Given the description of an element on the screen output the (x, y) to click on. 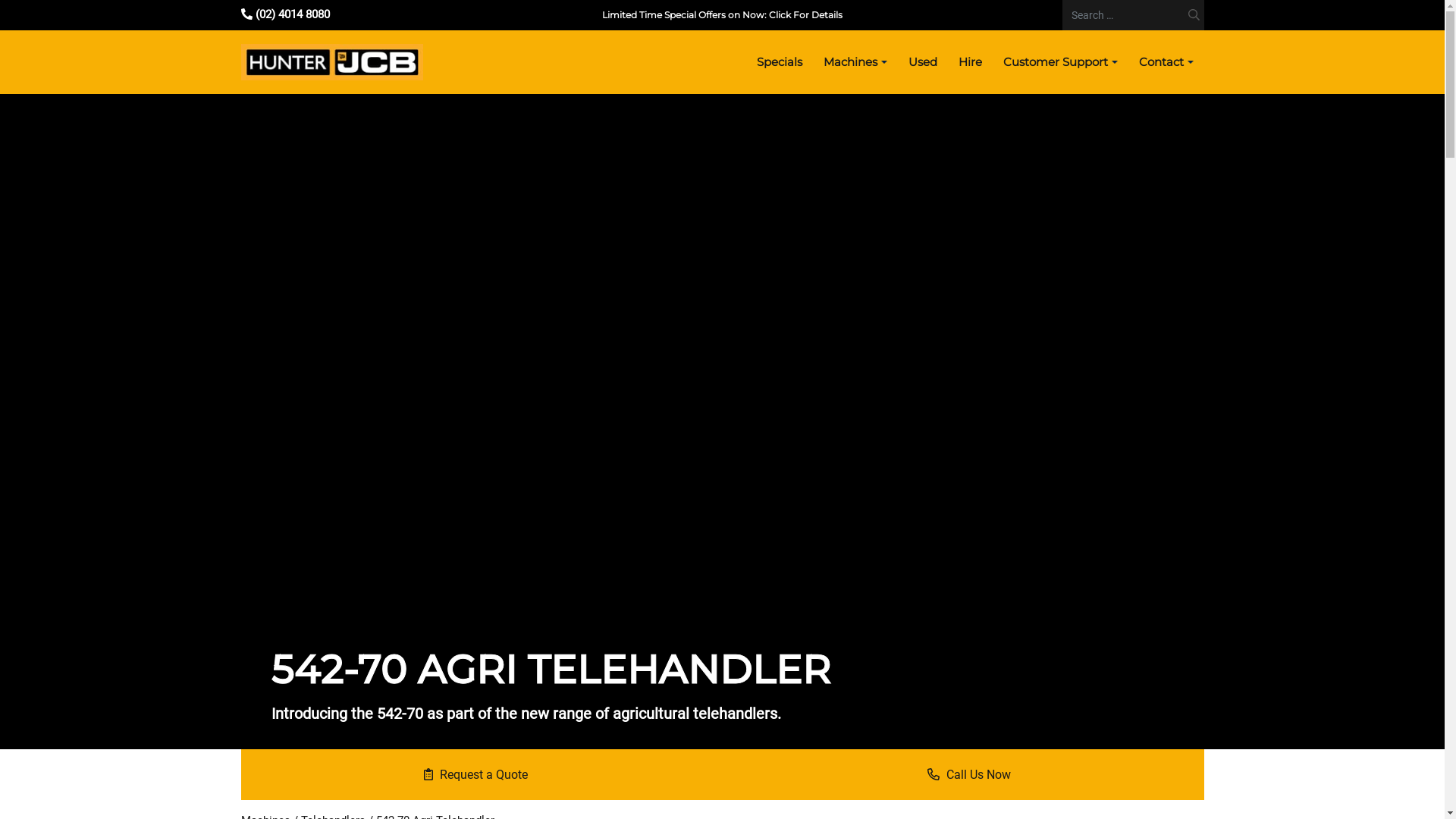
Used Element type: text (922, 61)
Hire Element type: text (969, 61)
Call Us Now Element type: text (968, 774)
Limited Time Special Offers on Now: Click For Details Element type: text (722, 14)
Customer Support Element type: text (1059, 61)
Contact Element type: text (1166, 61)
(02) 4014 8080 Element type: text (285, 14)
Specials Element type: text (779, 61)
Machines Element type: text (854, 61)
Request a Quote Element type: text (475, 774)
